Given the description of an element on the screen output the (x, y) to click on. 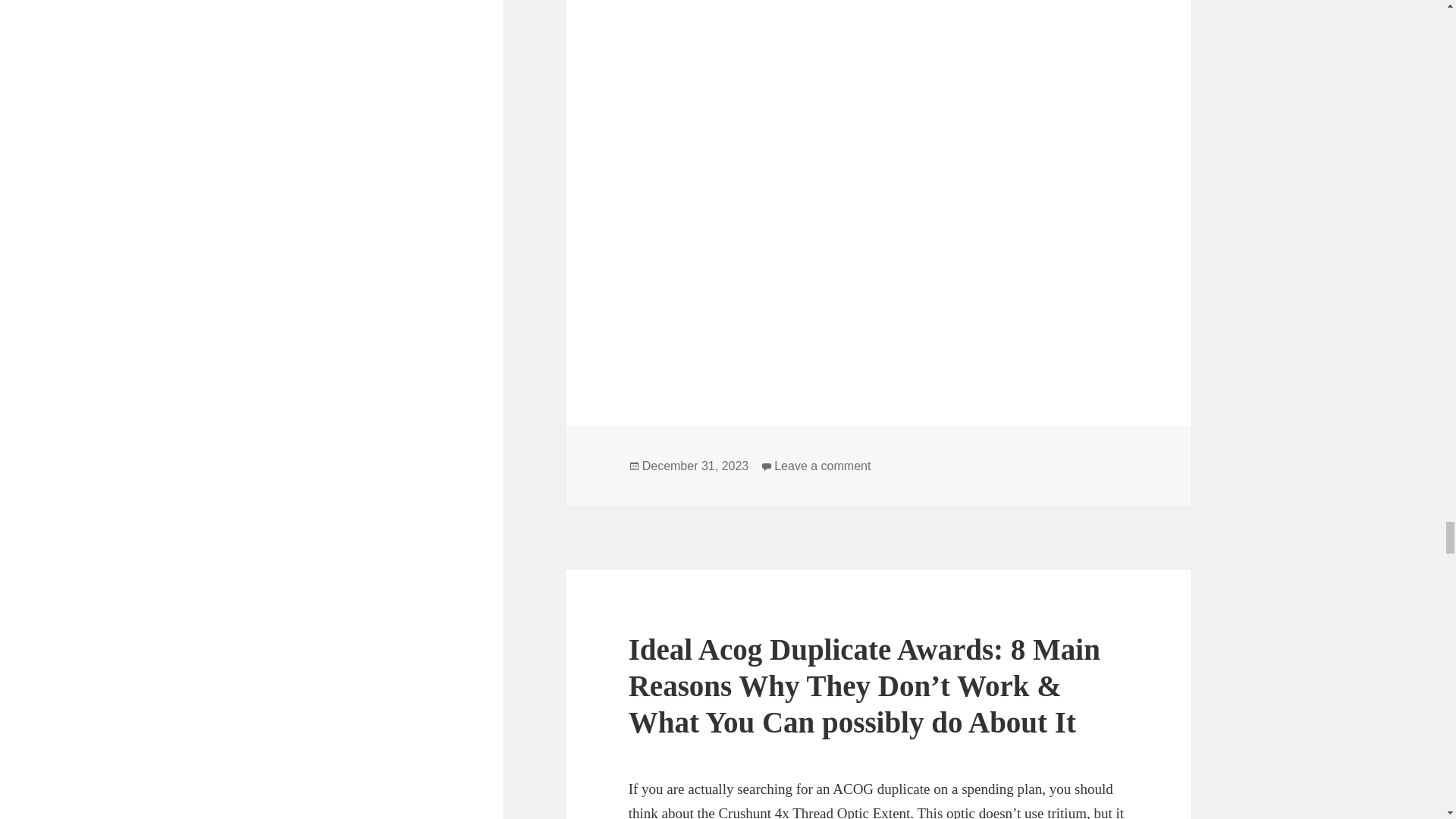
December 31, 2023 (695, 466)
